Given the description of an element on the screen output the (x, y) to click on. 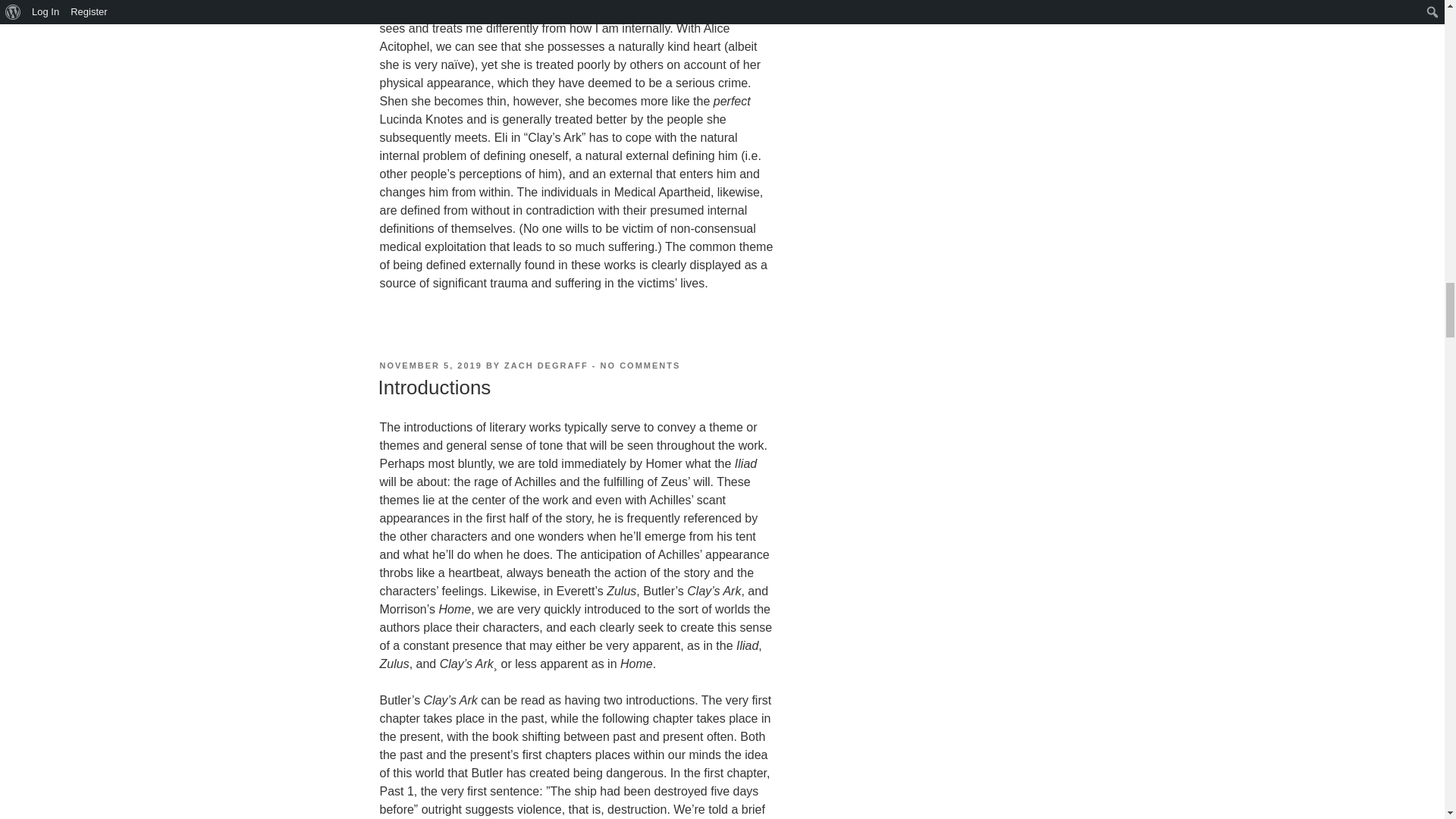
ZACH DEGRAFF (545, 365)
NOVEMBER 5, 2019 (429, 365)
Introductions (640, 365)
